Given the description of an element on the screen output the (x, y) to click on. 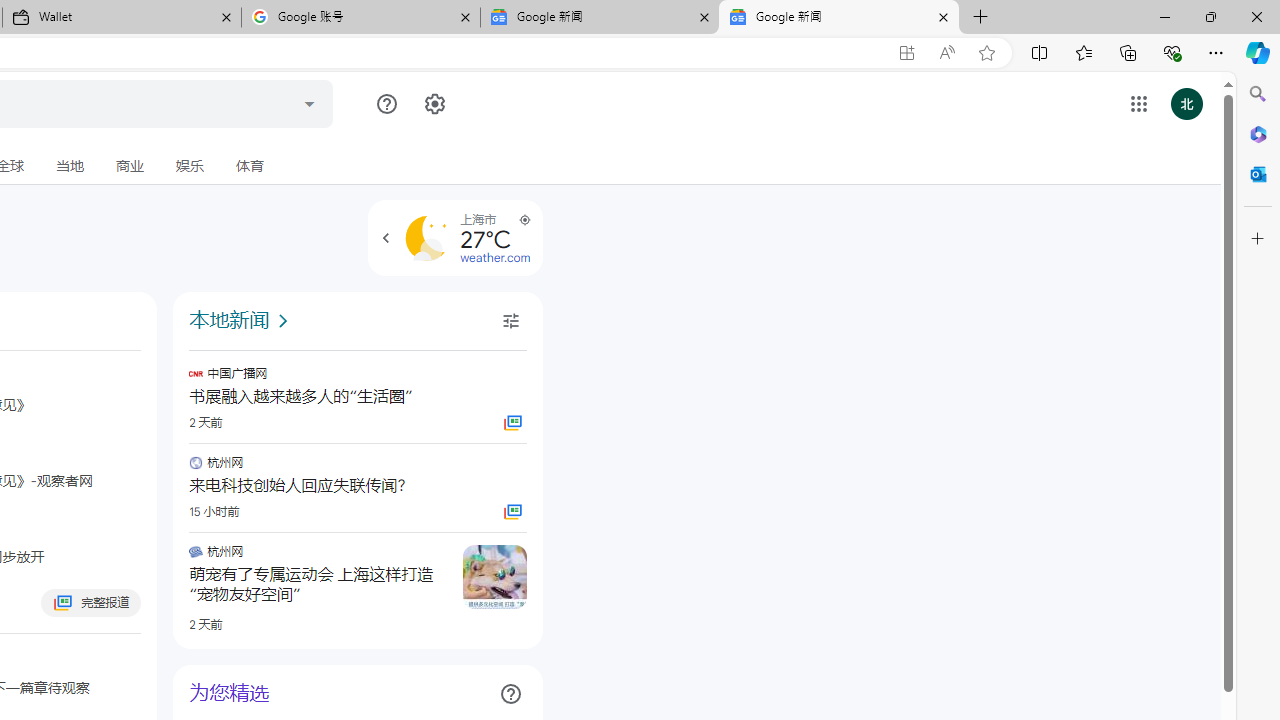
AutomationID: i40 (283, 321)
Class: isawzf NMm5M (510, 321)
